Given the description of an element on the screen output the (x, y) to click on. 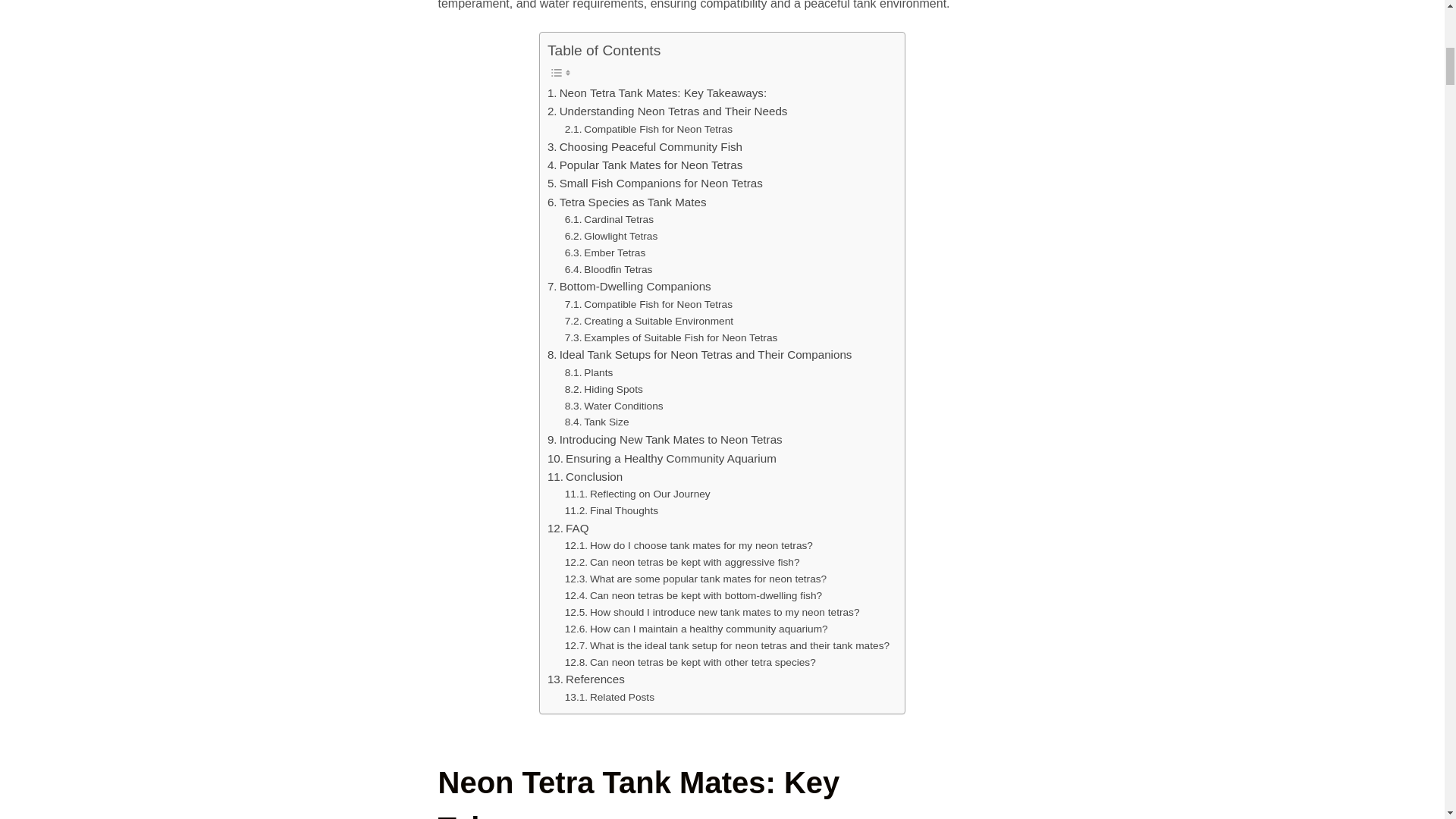
Neon Tetra Tank Mates: Key Takeaways: (657, 93)
Choosing Peaceful Community Fish (644, 147)
Compatible Fish for Neon Tetras (648, 129)
Glowlight Tetras (611, 236)
Popular Tank Mates for Neon Tetras (644, 165)
Understanding Neon Tetras and Their Needs (667, 111)
Ember Tetras (605, 252)
Tetra Species as Tank Mates (626, 202)
Small Fish Companions for Neon Tetras (654, 183)
Cardinal Tetras (608, 219)
